Given the description of an element on the screen output the (x, y) to click on. 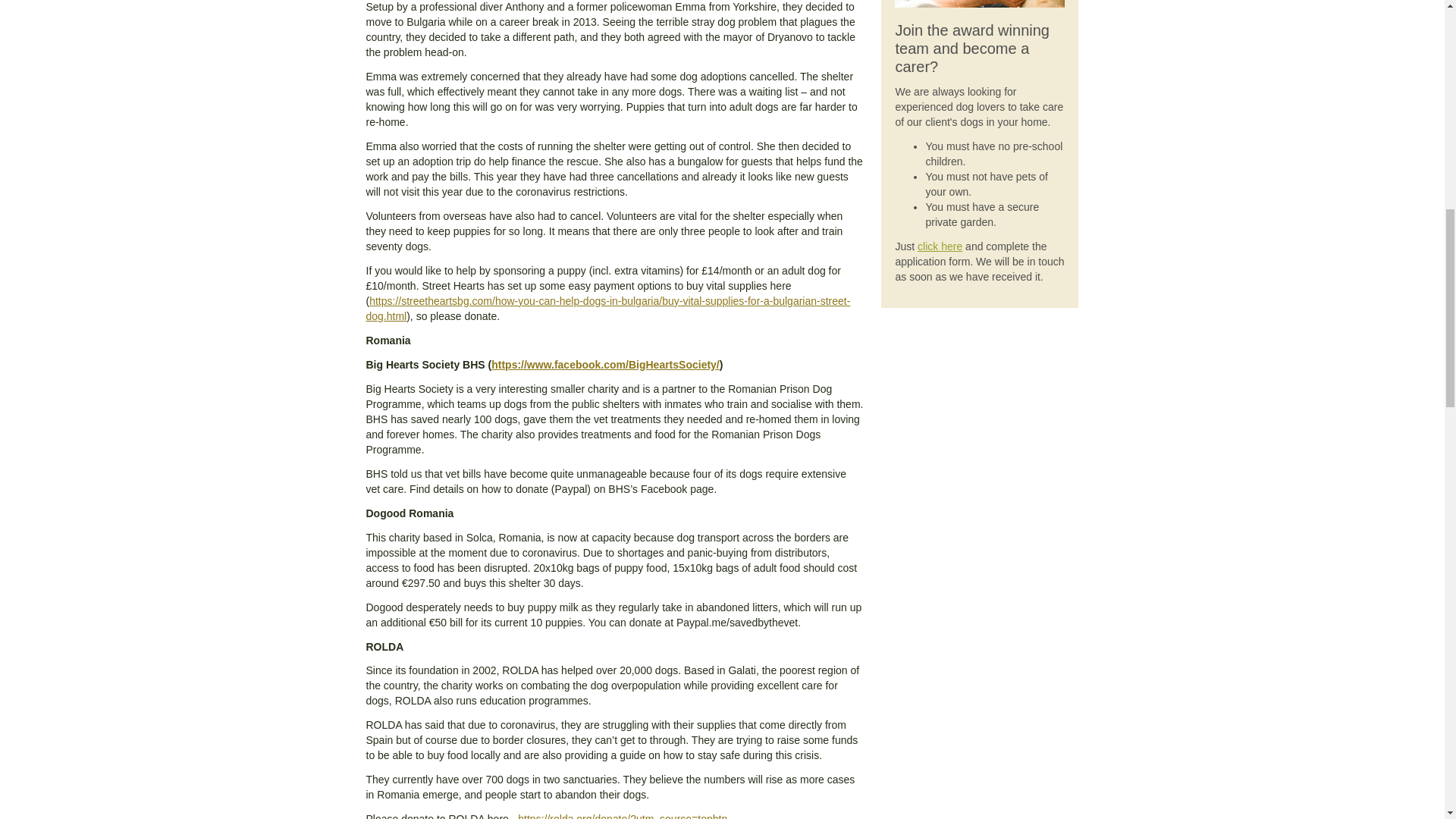
click here (939, 246)
